Given the description of an element on the screen output the (x, y) to click on. 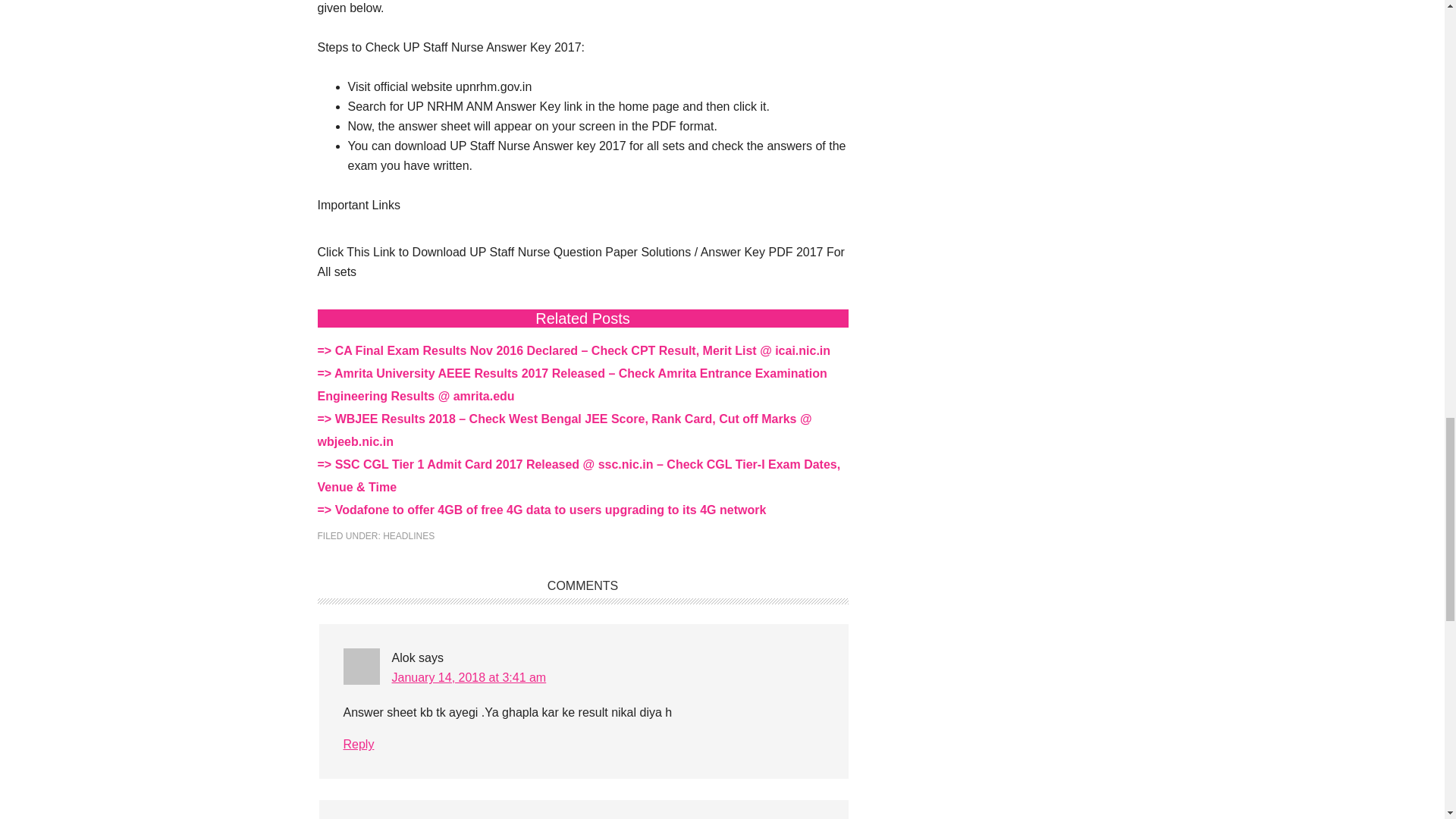
HEADLINES (407, 535)
January 14, 2018 at 3:41 am (468, 676)
Reply (358, 744)
